Given the description of an element on the screen output the (x, y) to click on. 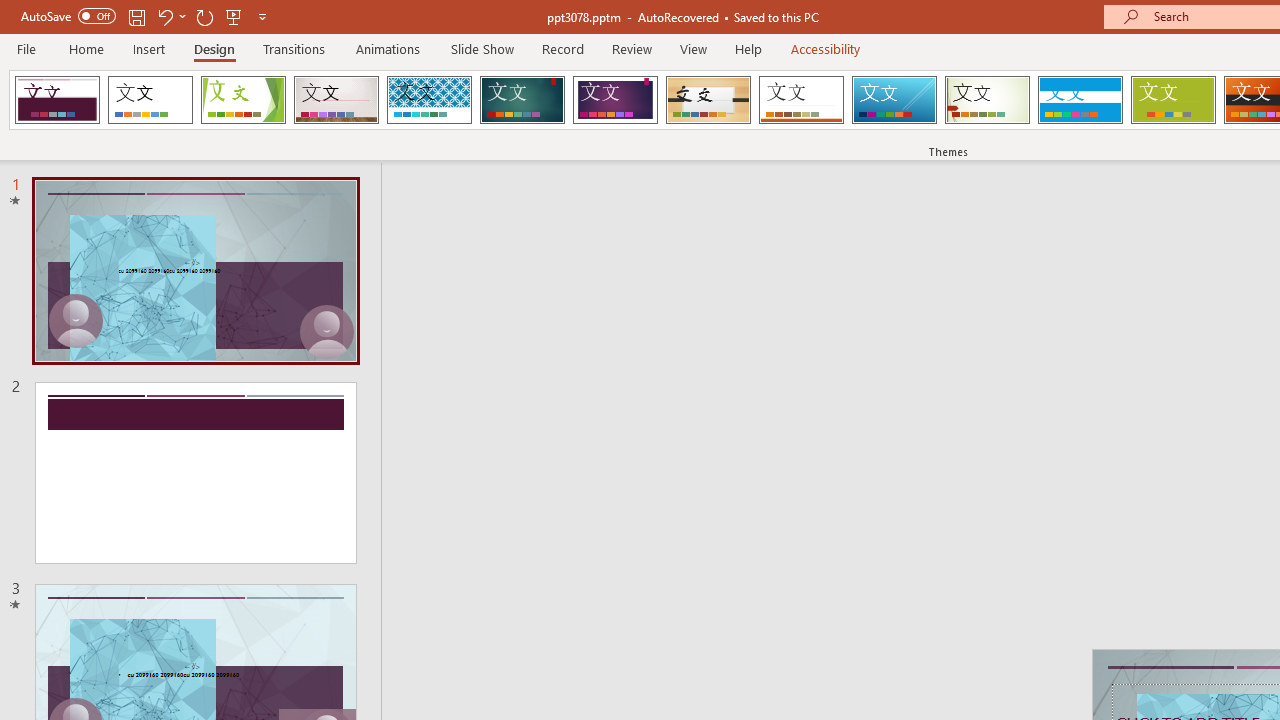
File Tab (26, 48)
Organic (708, 100)
More Options (182, 15)
Insert (149, 48)
Basis (1172, 100)
Animations (388, 48)
System (10, 11)
Facet (243, 100)
